Given the description of an element on the screen output the (x, y) to click on. 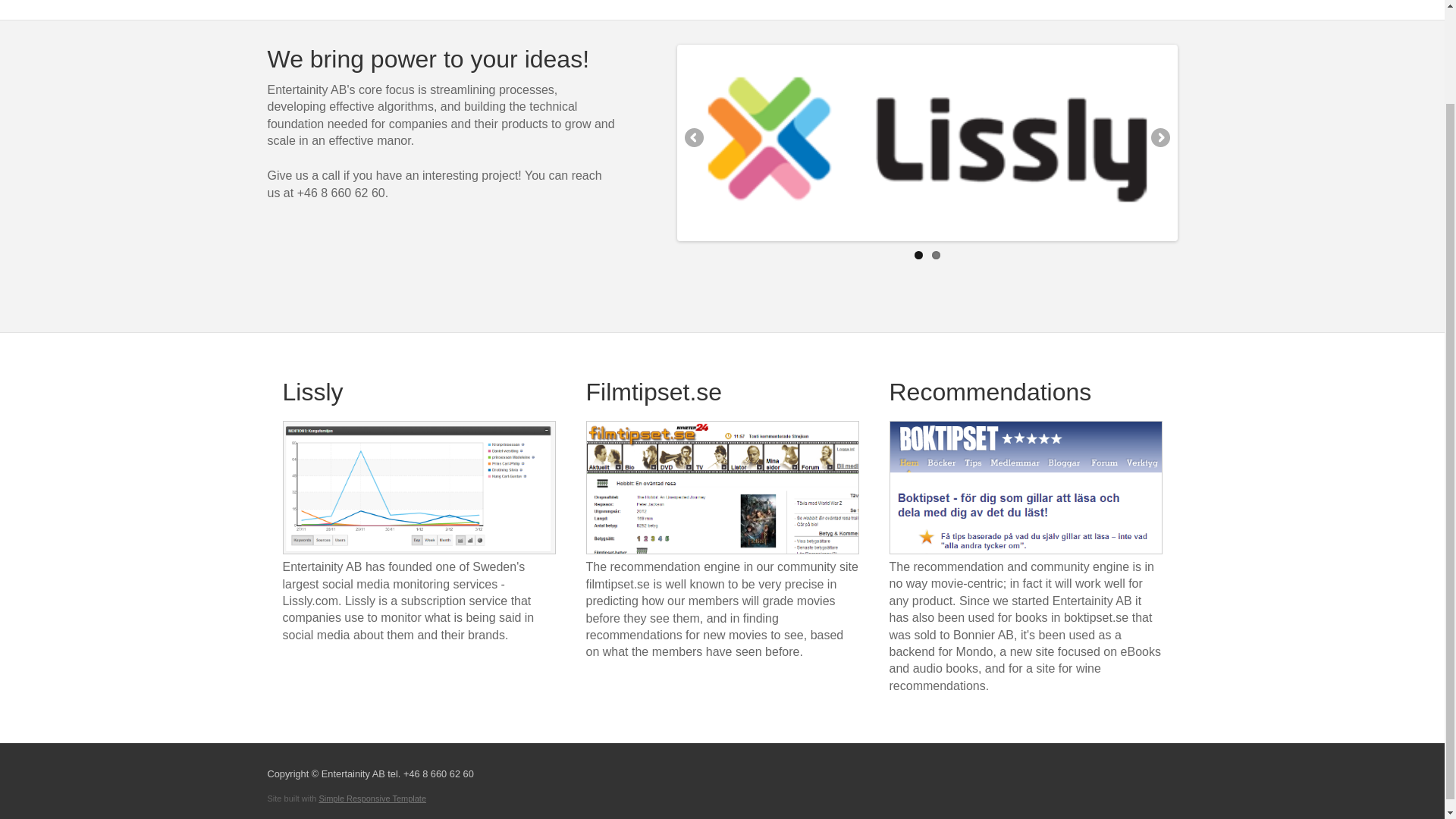
Next (1159, 138)
2 (935, 254)
Simple Responsive Template (372, 798)
Previous (695, 138)
1 (918, 254)
